Given the description of an element on the screen output the (x, y) to click on. 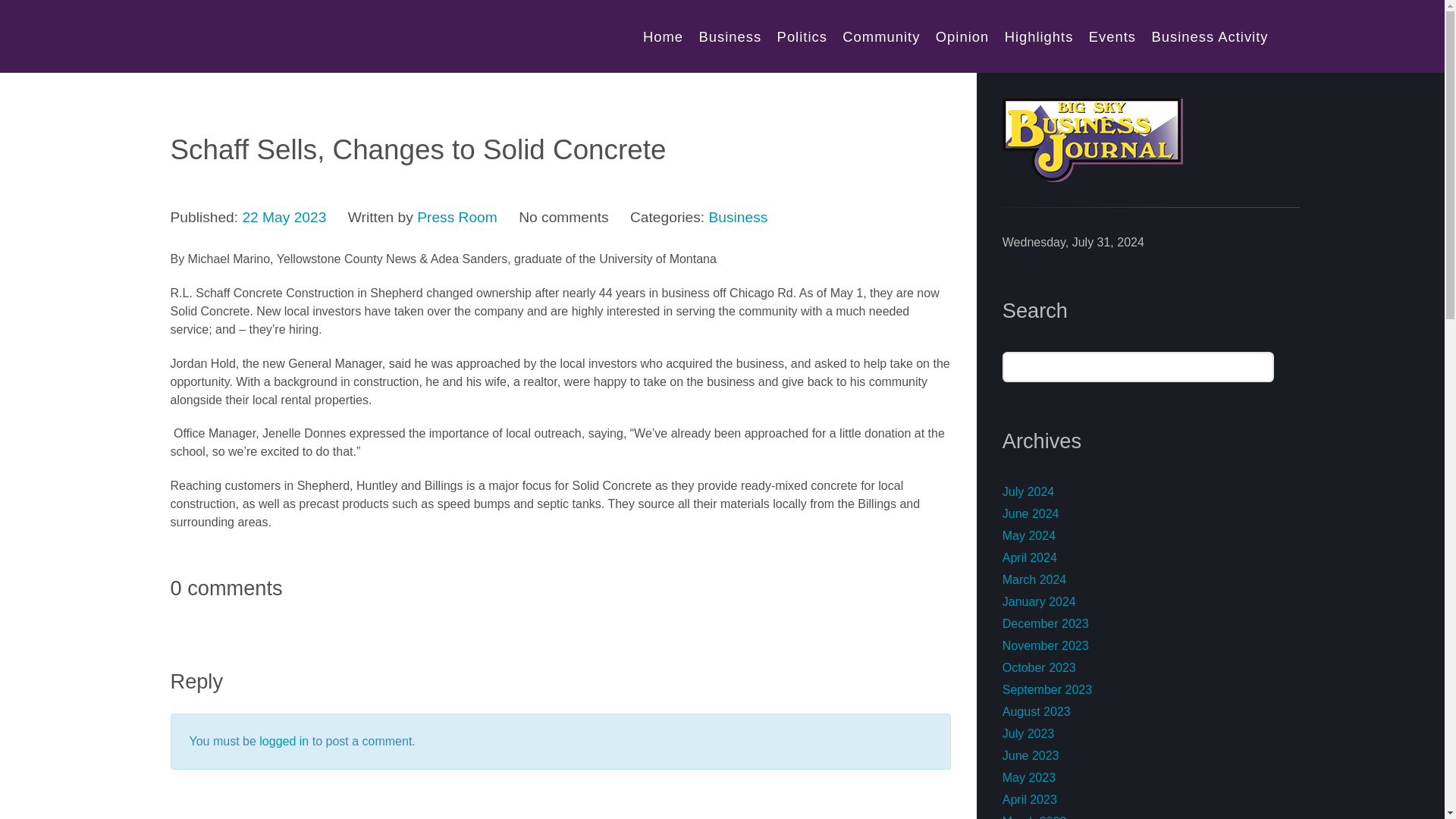
August 2023 (1036, 711)
May 2024 (1029, 535)
December 2023 (1046, 623)
Schaff Sells, Changes to Solid Concrete (283, 217)
Opinion (962, 35)
Community (880, 35)
October 2023 (1039, 667)
April 2024 (1030, 557)
July 2024 (1028, 491)
September 2023 (1047, 689)
22 May 2023 (283, 217)
Home (662, 35)
March 2024 (1035, 579)
March 2023 (1035, 816)
Business (737, 217)
